Given the description of an element on the screen output the (x, y) to click on. 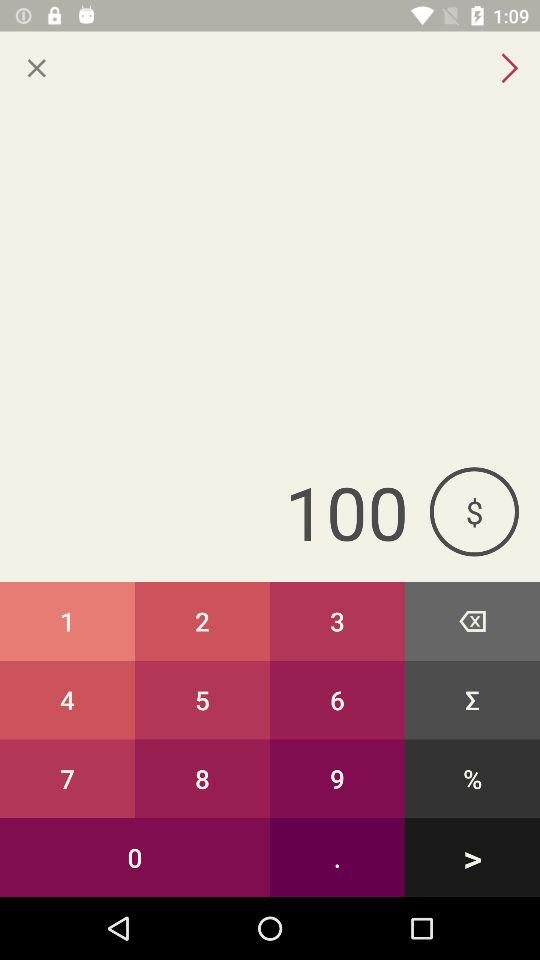
turn on item to the right of 2 item (337, 620)
